Given the description of an element on the screen output the (x, y) to click on. 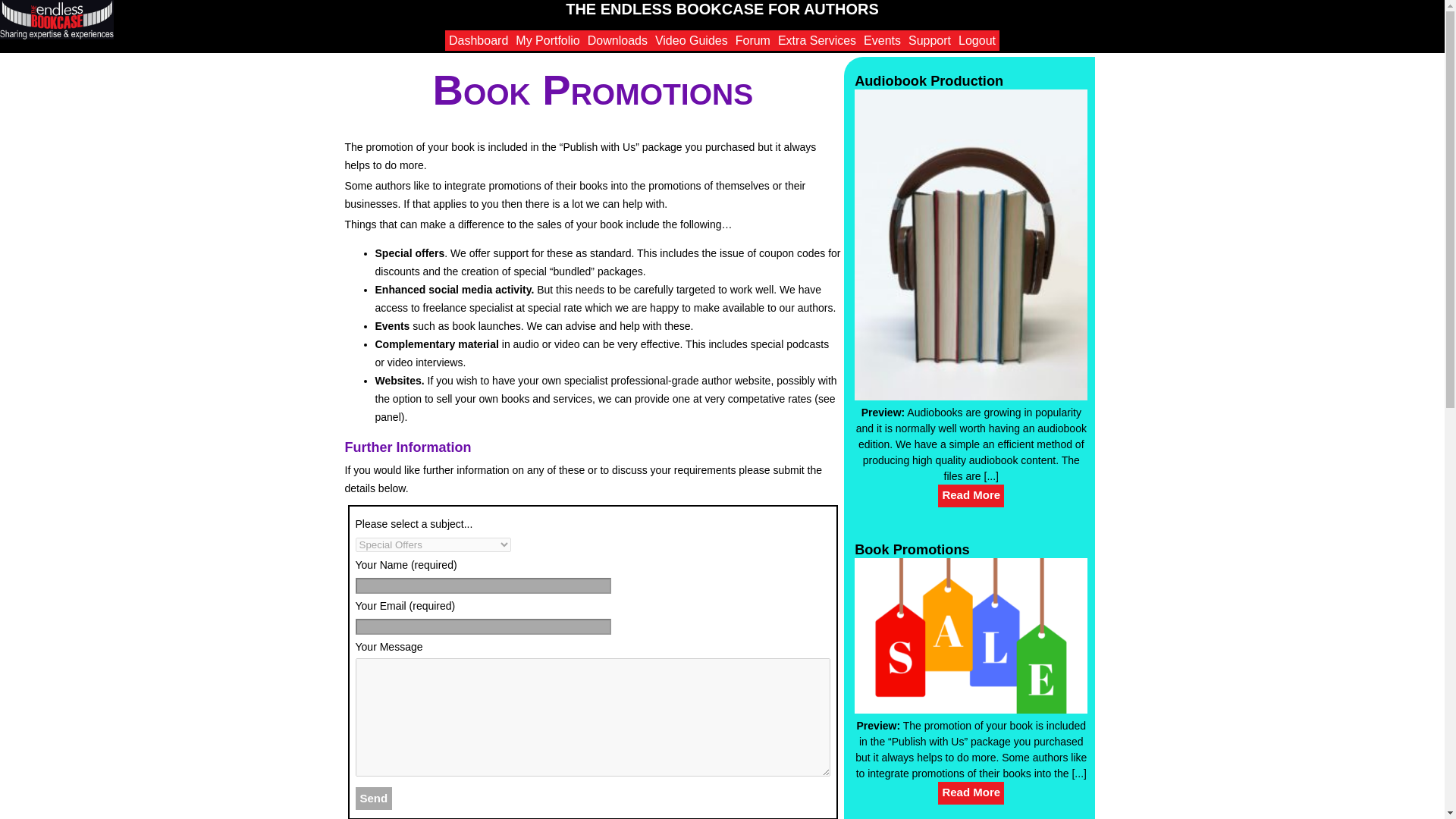
My Portfolio (547, 40)
Extra Services (817, 40)
Video Guides (691, 40)
Support (929, 40)
Send (373, 798)
Downloads (616, 40)
Logout (976, 40)
Dashboard (478, 40)
Events (882, 40)
Forum (753, 40)
The Endless Bookcase - for authors (56, 19)
